Given the description of an element on the screen output the (x, y) to click on. 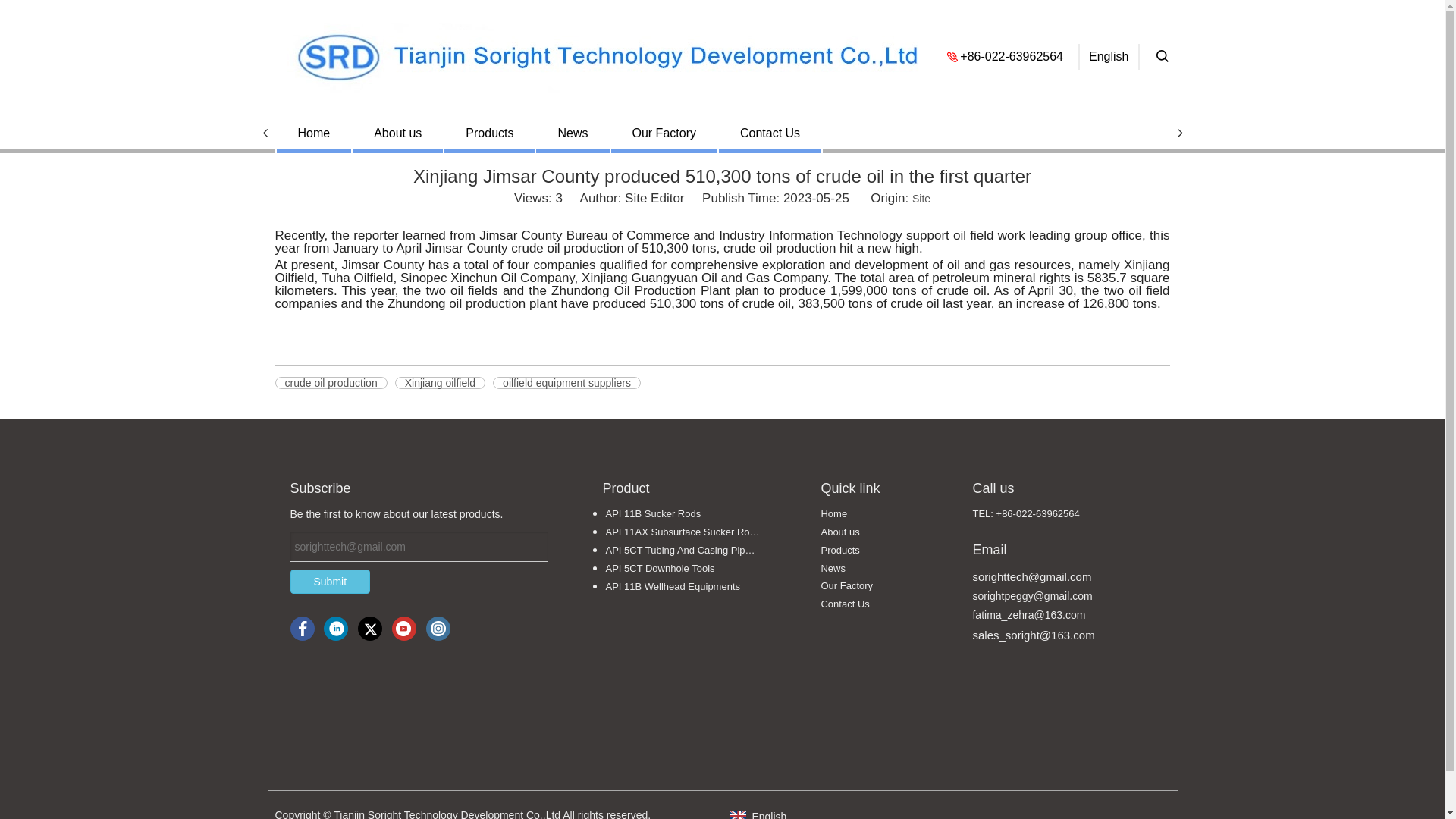
Contact Us (845, 603)
oilfield equipment suppliers (566, 382)
Instagram (437, 628)
Products (489, 132)
API 11B Sucker Rods  (683, 514)
API 11AX Subsurface Sucker Rod Pumps  (683, 532)
Site (921, 198)
Products (840, 550)
Contact Us (769, 132)
Home (313, 132)
